Given the description of an element on the screen output the (x, y) to click on. 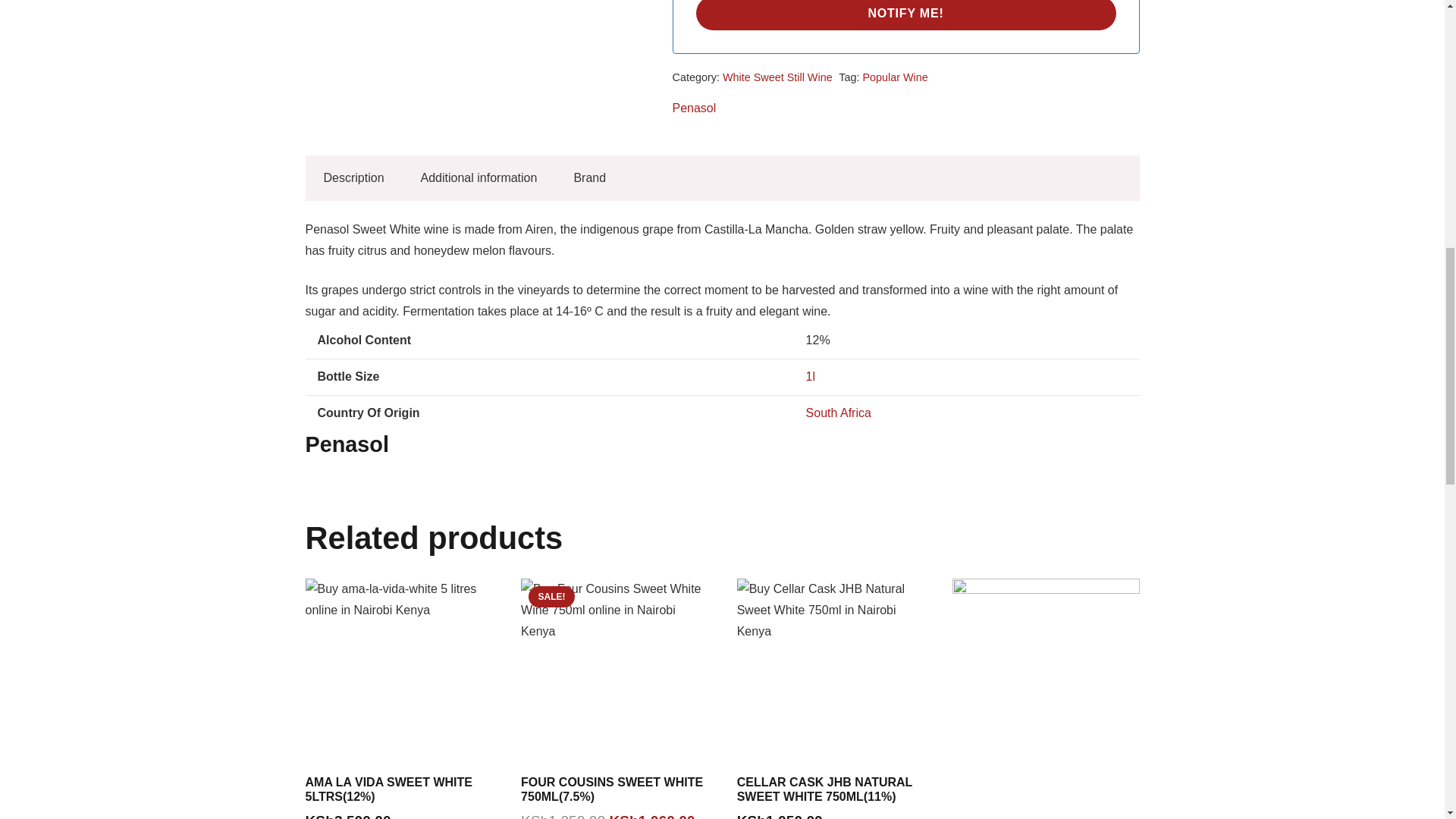
Notify Me! (905, 15)
View brand (693, 107)
